Given the description of an element on the screen output the (x, y) to click on. 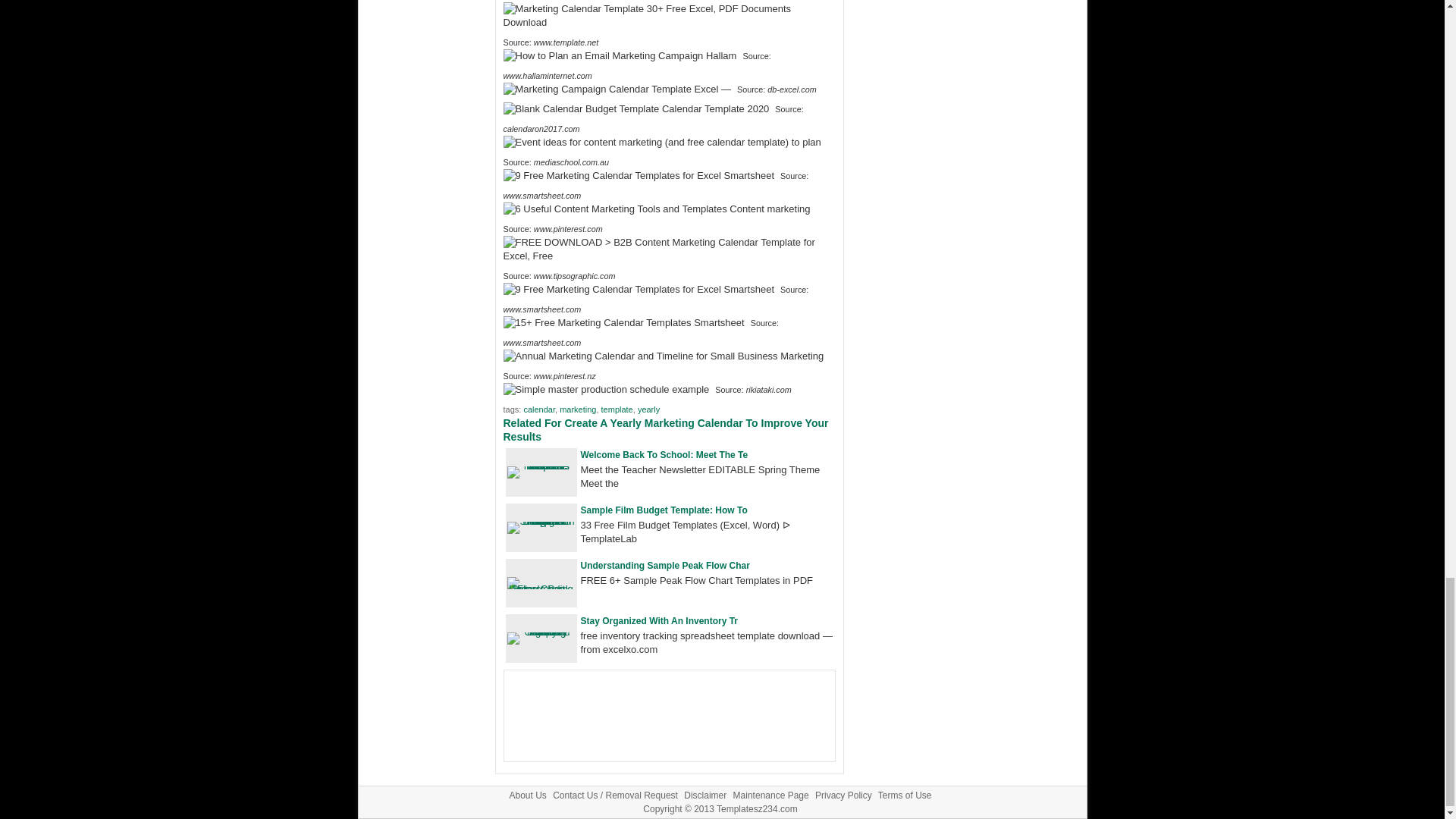
Understanding Sample Peak Flow Char (664, 565)
Understanding Sample Peak Flow Chart (540, 588)
Welcome Back To School: Meet The Te (664, 454)
calendar (538, 409)
Stay Organized With An Inventory Tracking Sheet Template (540, 632)
Stay Organized With An Inventory Tr (659, 620)
Understanding Sample Peak Flow Chart (664, 565)
